Given the description of an element on the screen output the (x, y) to click on. 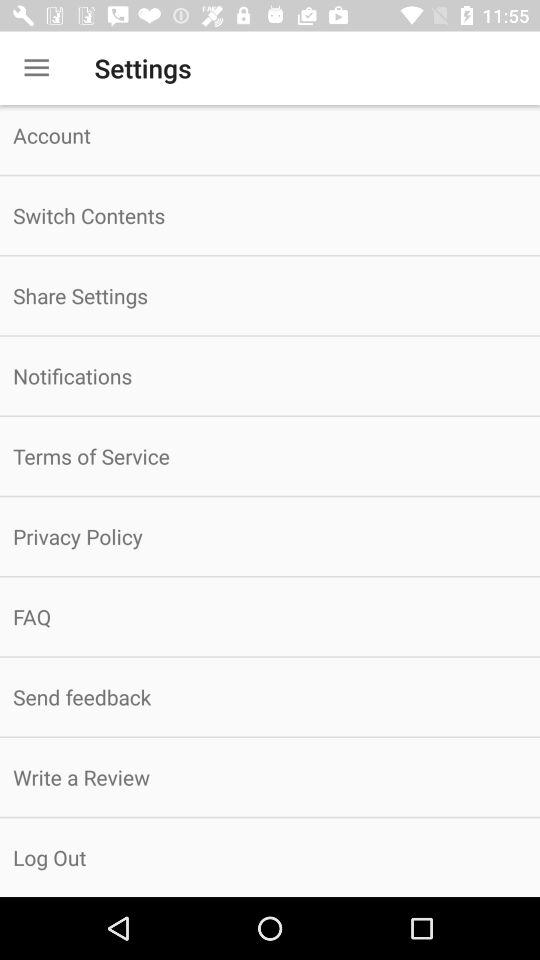
launch the log out item (270, 857)
